Given the description of an element on the screen output the (x, y) to click on. 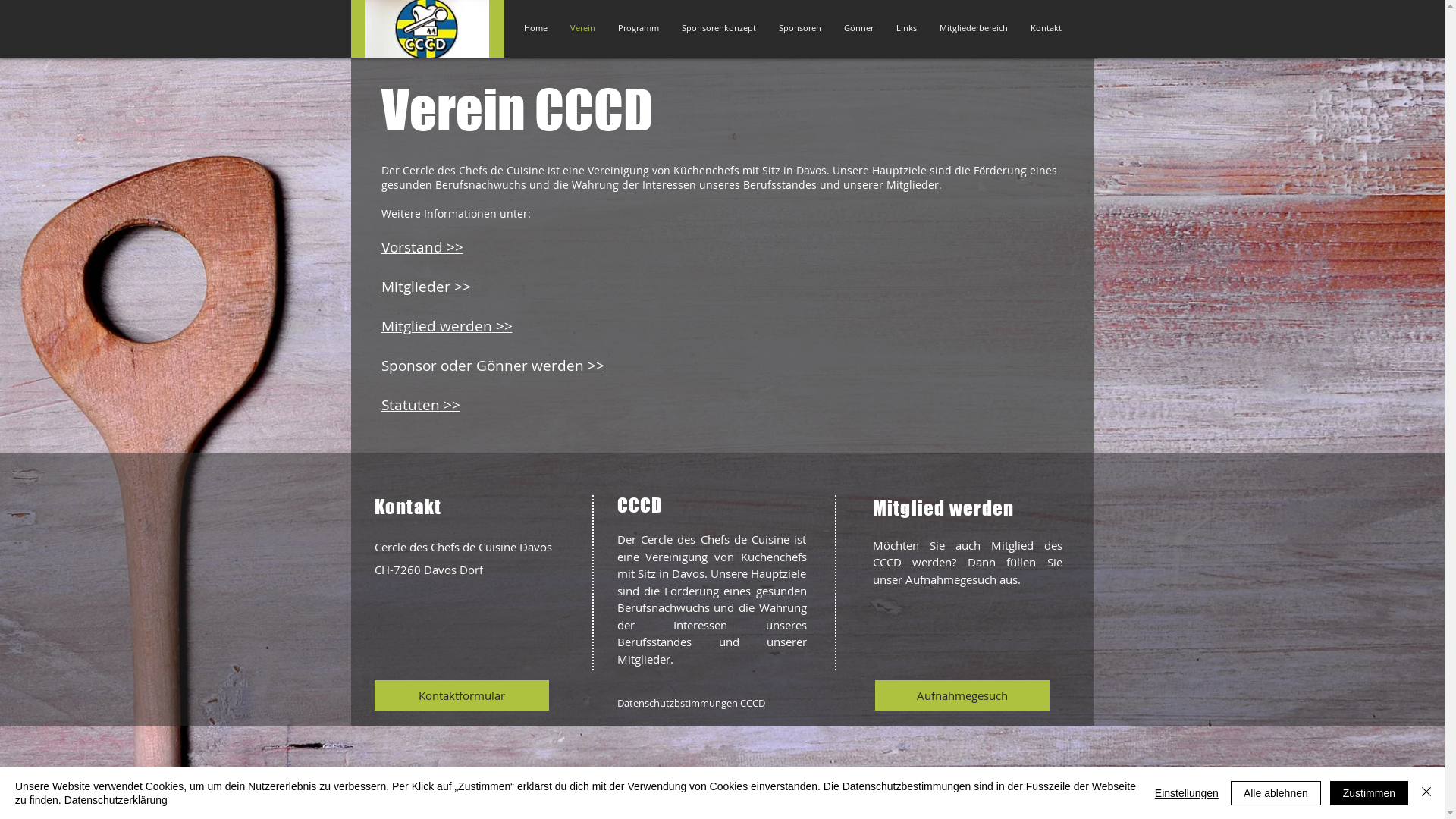
Sponsoren Element type: text (799, 27)
>> Element type: text (501, 325)
Kontakt Element type: text (1046, 27)
Mitgliederbereich Element type: text (973, 27)
Home Element type: text (535, 27)
>> Element type: text (449, 404)
Statuten Element type: text (409, 404)
Mitglieder >> Element type: text (425, 286)
Vorstand >> Element type: text (421, 247)
Links Element type: text (905, 27)
Alle ablehnen Element type: text (1275, 793)
Sponsorenkonzept Element type: text (718, 27)
Programm Element type: text (638, 27)
Mitglied werden Element type: text (435, 325)
Zustimmen Element type: text (1369, 793)
Kontaktformular Element type: text (461, 695)
Datenschutzbstimmungen CCCD Element type: text (691, 702)
Aufnahmegesuch Element type: text (962, 695)
Verein Element type: text (581, 27)
Aufnahmegesuch Element type: text (950, 578)
